Given the description of an element on the screen output the (x, y) to click on. 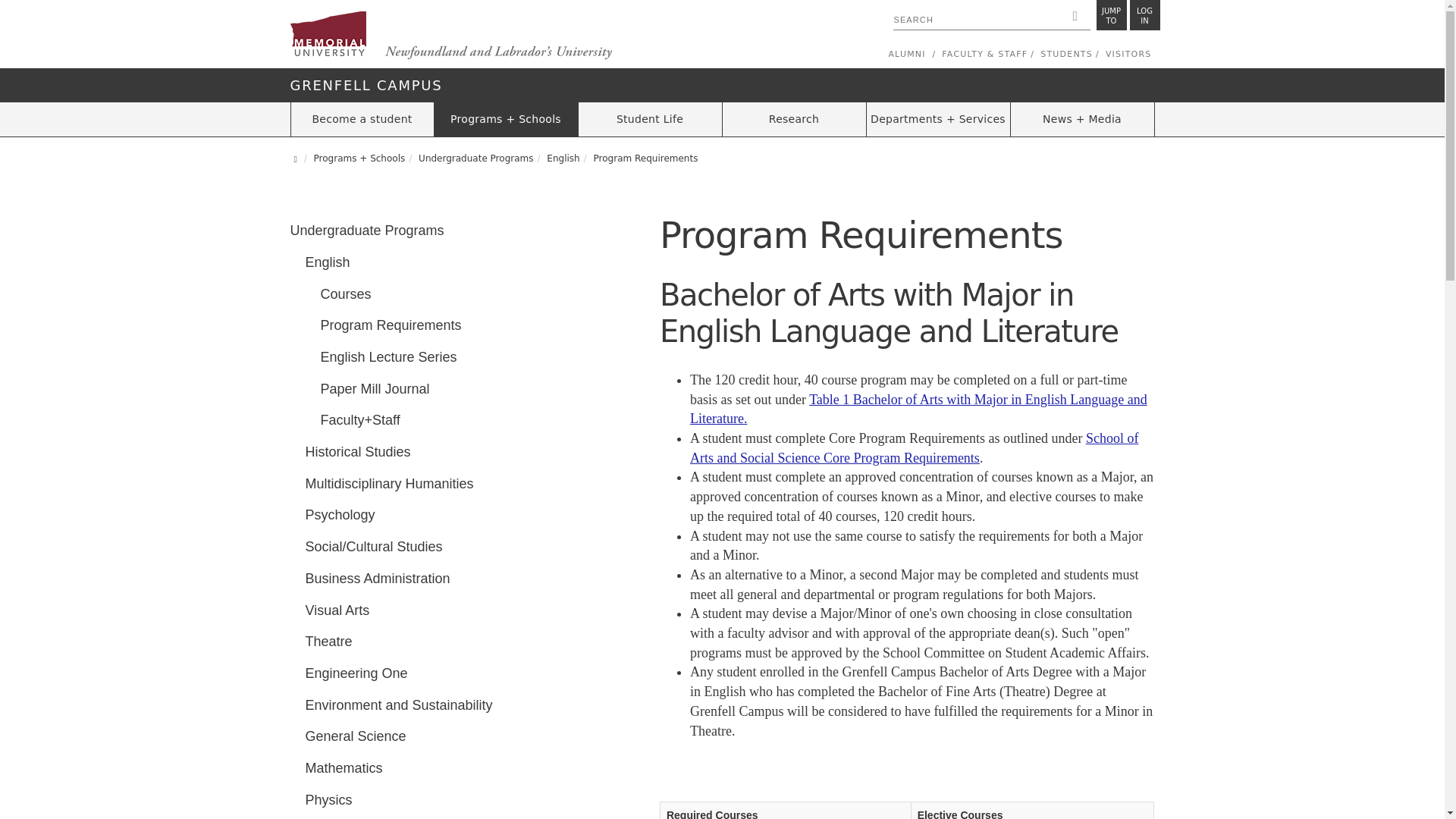
JUMP TO (1111, 15)
Memorial University of Newfoundland (450, 35)
Memorial University (1144, 15)
